Given the description of an element on the screen output the (x, y) to click on. 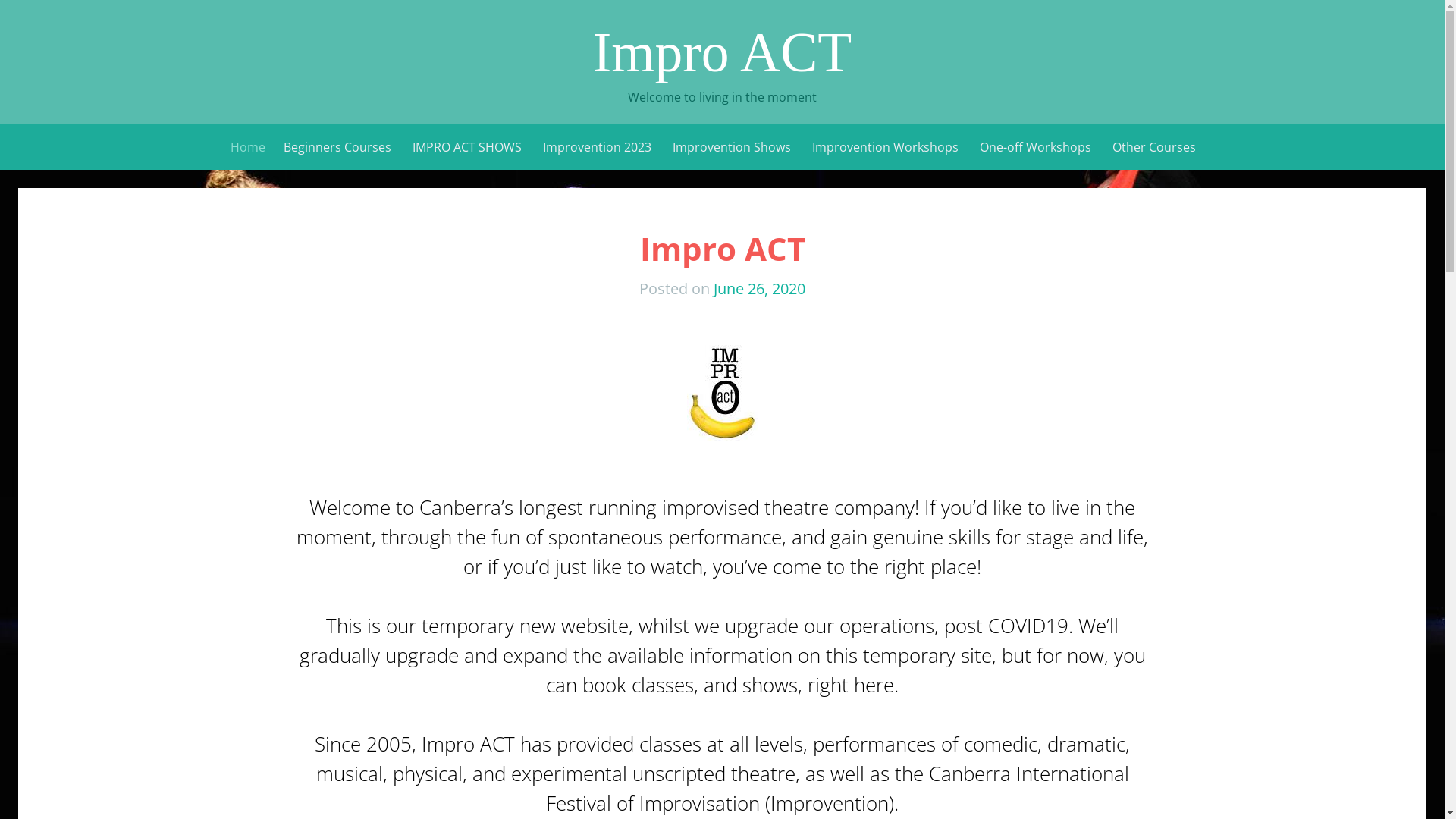
Impro ACT Element type: text (722, 247)
Other Courses Element type: text (1153, 146)
Improvention Workshops Element type: text (885, 146)
Improvention 2023 Element type: text (596, 146)
Search Element type: text (24, 13)
Improvention Shows Element type: text (731, 146)
IMPRO ACT SHOWS Element type: text (466, 146)
Impro ACT Element type: text (722, 52)
June 26, 2020 Element type: text (759, 288)
Beginners Courses Element type: text (337, 146)
One-off Workshops Element type: text (1035, 146)
Home Element type: text (247, 146)
